Given the description of an element on the screen output the (x, y) to click on. 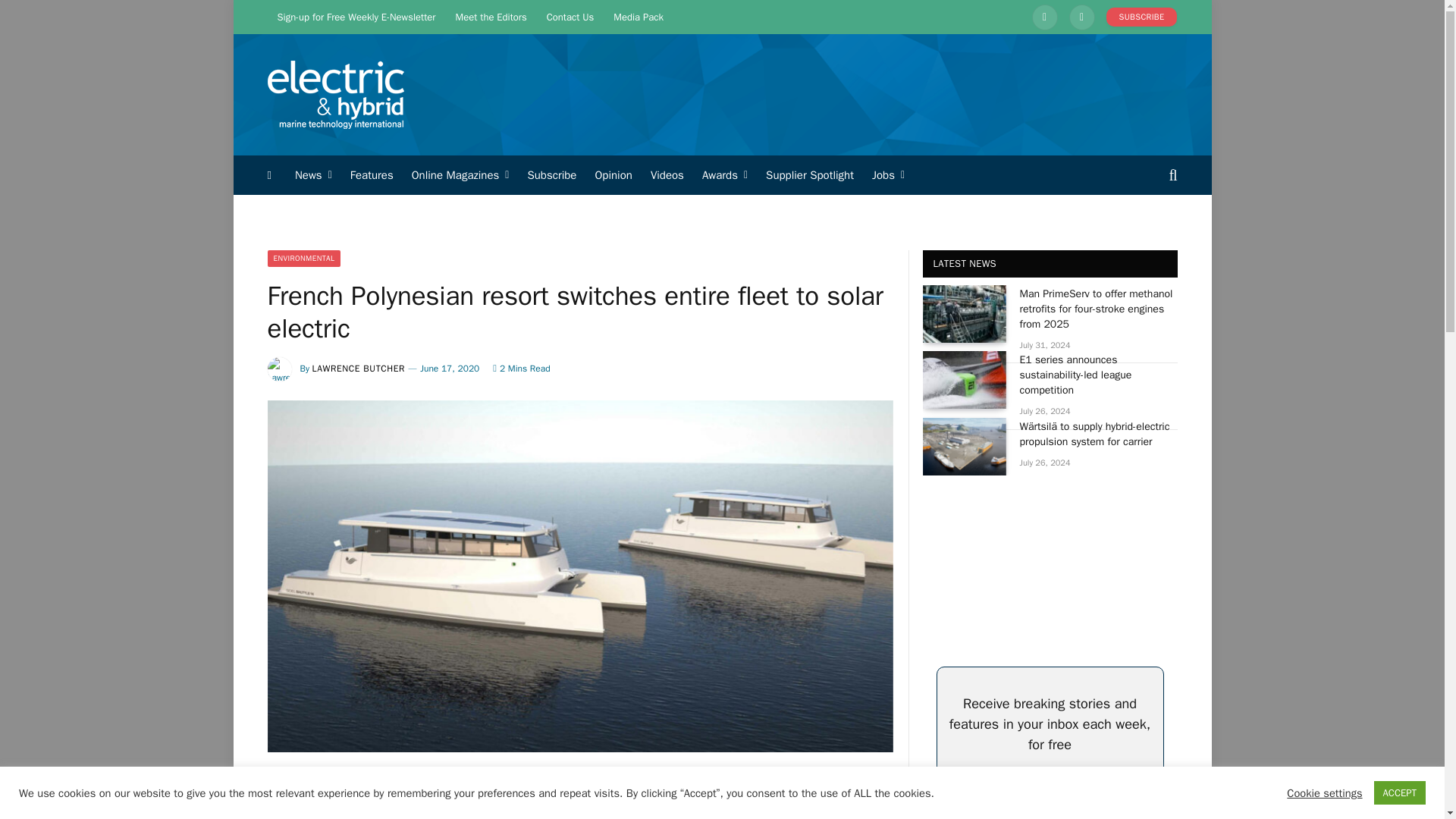
LinkedIn (1045, 17)
Posts by Lawrence Butcher (359, 368)
Meet the Editors (491, 17)
Facebook (1081, 17)
Sign-up for Free Weekly E-Newsletter (355, 17)
Media Pack (638, 17)
Electric Hybrid Marine Technology (334, 94)
Contact Us (570, 17)
SUBSCRIBE (1141, 16)
News (312, 174)
